Given the description of an element on the screen output the (x, y) to click on. 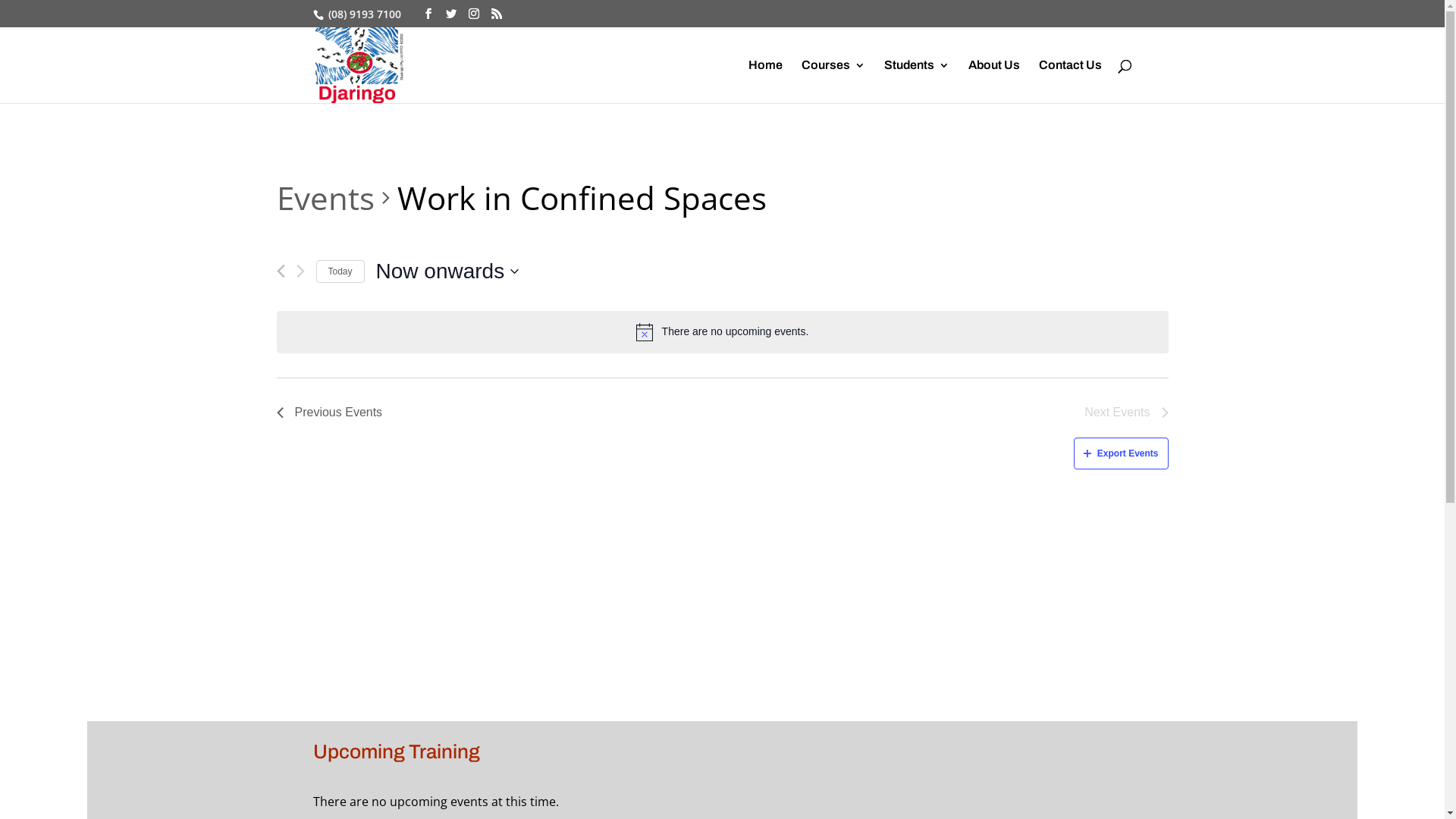
Students Element type: text (916, 81)
Contact Us Element type: text (1069, 81)
Now onwards Element type: text (447, 271)
Next Events Element type: hover (299, 270)
Next Events Element type: text (1125, 412)
Export Events Element type: text (1120, 453)
Courses Element type: text (832, 81)
Previous Events Element type: hover (280, 270)
Events Element type: text (324, 197)
Previous Events Element type: text (329, 412)
About Us Element type: text (993, 81)
Today Element type: text (339, 271)
Home Element type: text (764, 81)
